Given the description of an element on the screen output the (x, y) to click on. 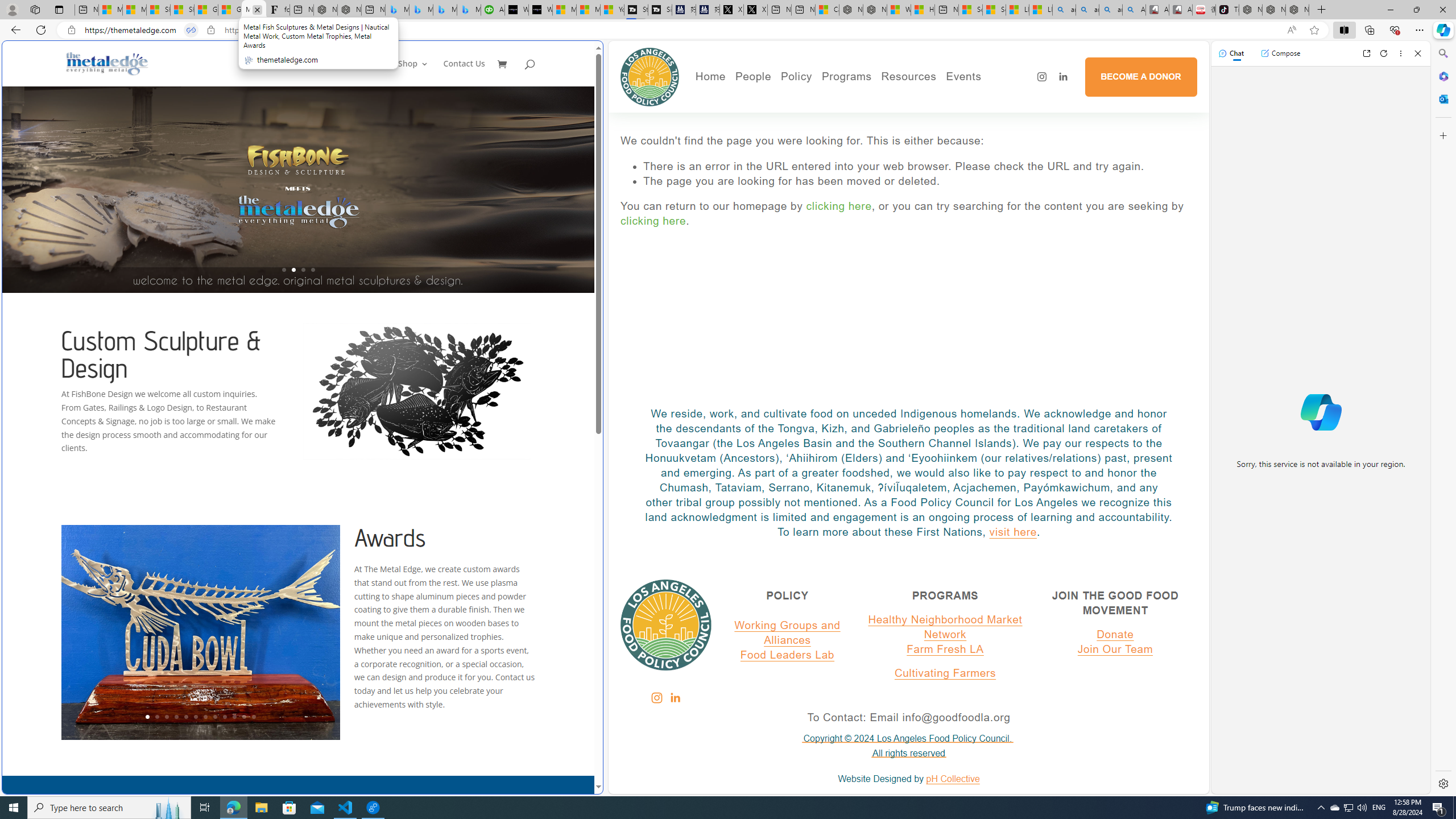
7 (205, 716)
Contact Us (463, 72)
Address and search bar (680, 29)
amazon - Search (1087, 9)
Huge shark washes ashore at New York City beach | Watch (922, 9)
Resources (908, 76)
Chat (1231, 52)
Copilot (Ctrl+Shift+.) (1442, 29)
4 (176, 716)
9 (224, 716)
Class: sqs-svg-icon--social (674, 697)
All Cubot phones (1180, 9)
Events (1002, 98)
Join Our Team (1115, 648)
10 (233, 716)
